Given the description of an element on the screen output the (x, y) to click on. 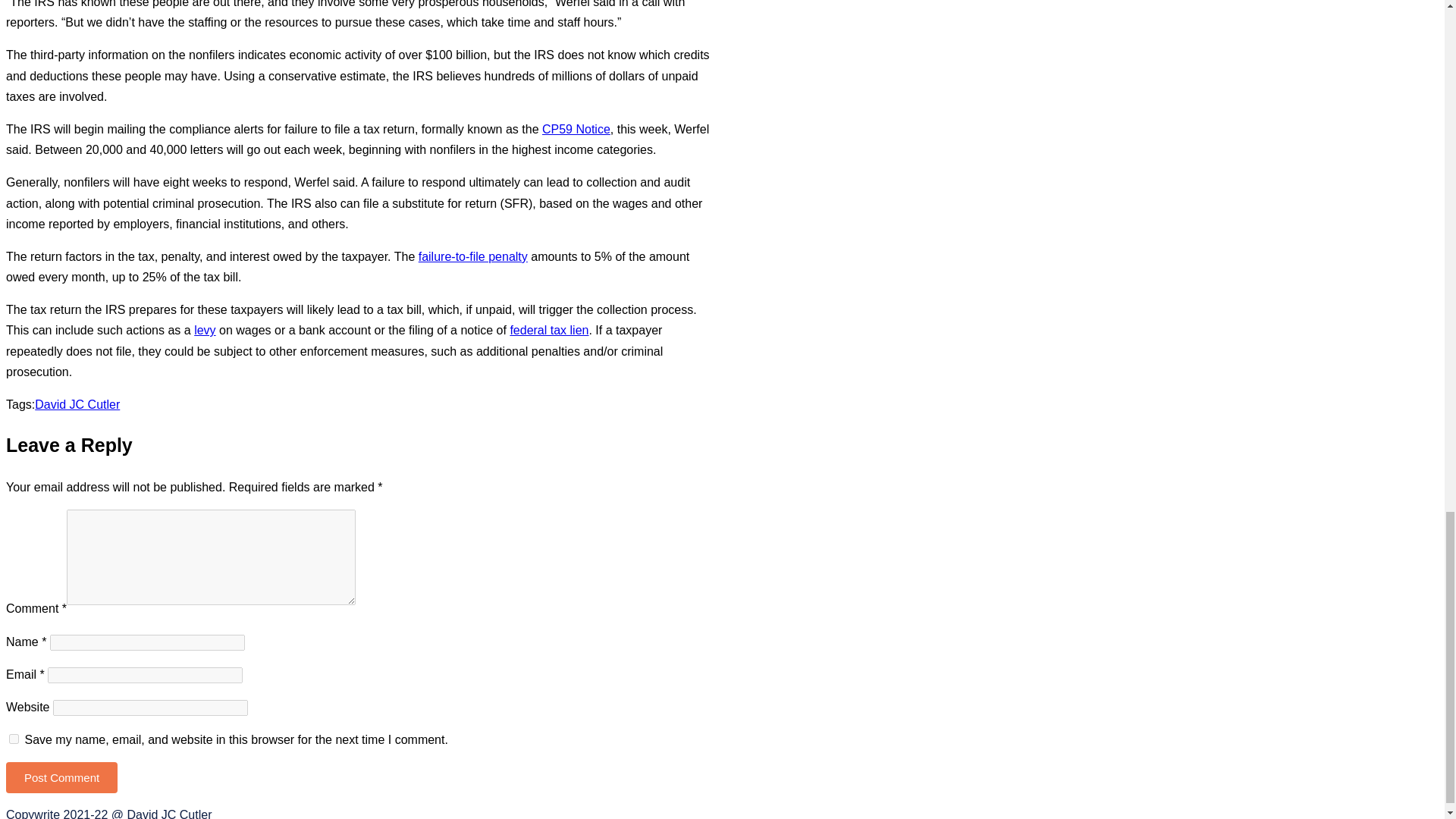
David JC Cutler (76, 404)
Post Comment (61, 777)
federal tax lien (548, 329)
failure-to-file penalty (473, 256)
Post Comment (61, 777)
CP59 Notice (575, 128)
yes (13, 738)
David JC Cutler (76, 404)
levy (204, 329)
